Given the description of an element on the screen output the (x, y) to click on. 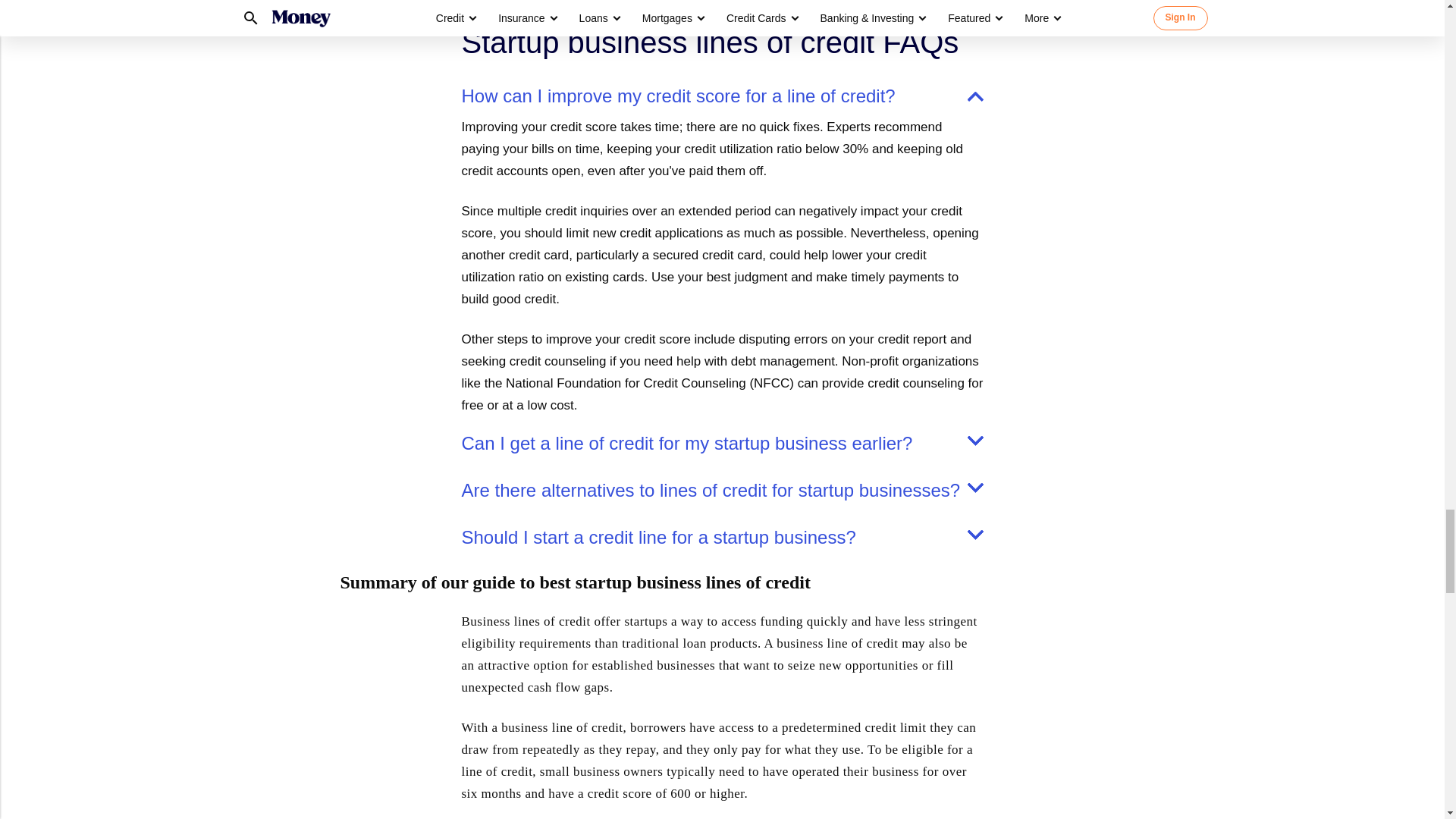
chevron-down (976, 534)
chevron-down (976, 488)
chevron-down (976, 440)
